Given the description of an element on the screen output the (x, y) to click on. 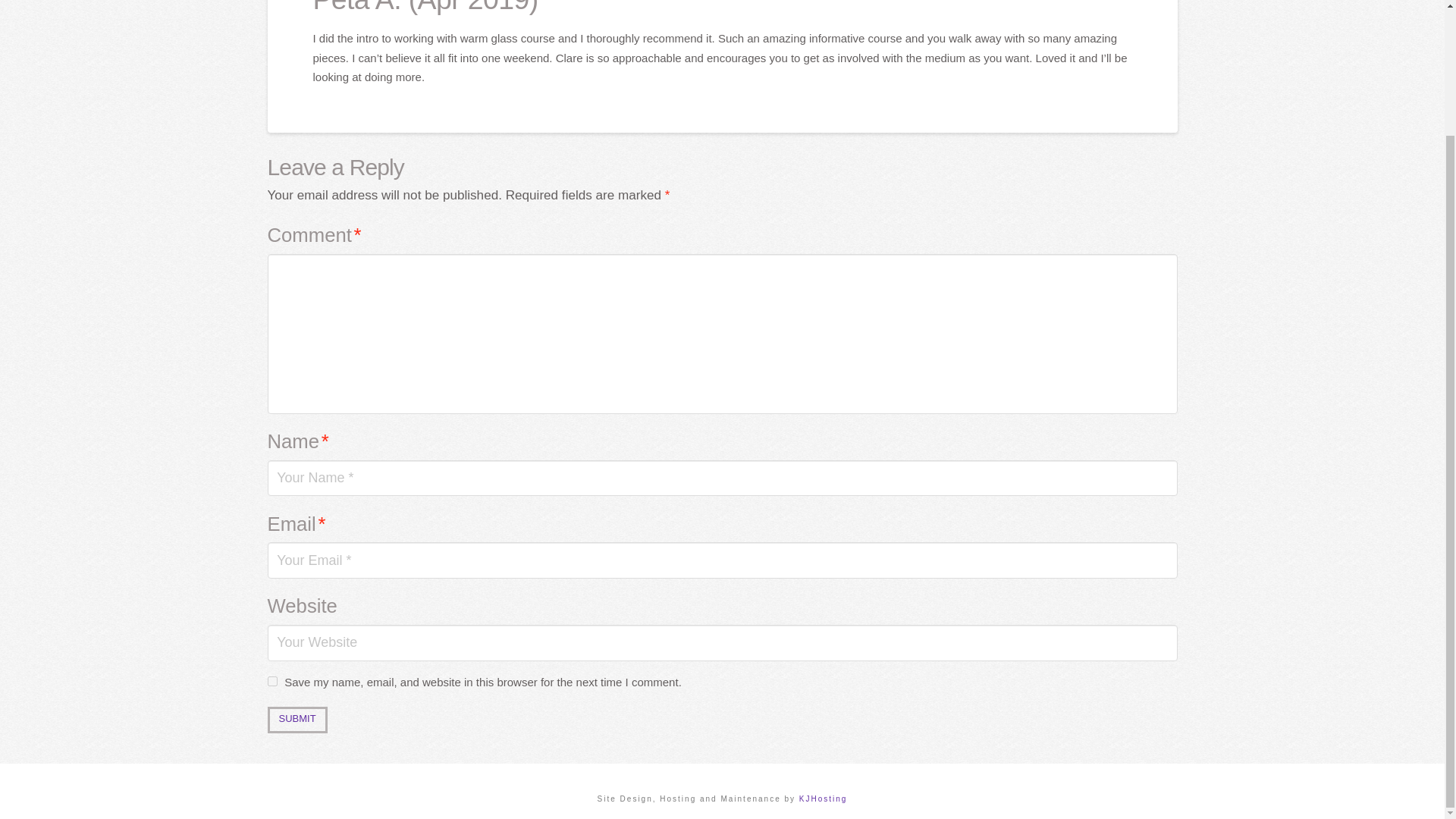
yes (271, 681)
Submit (296, 719)
KJHosting (823, 798)
Submit (296, 719)
